Given the description of an element on the screen output the (x, y) to click on. 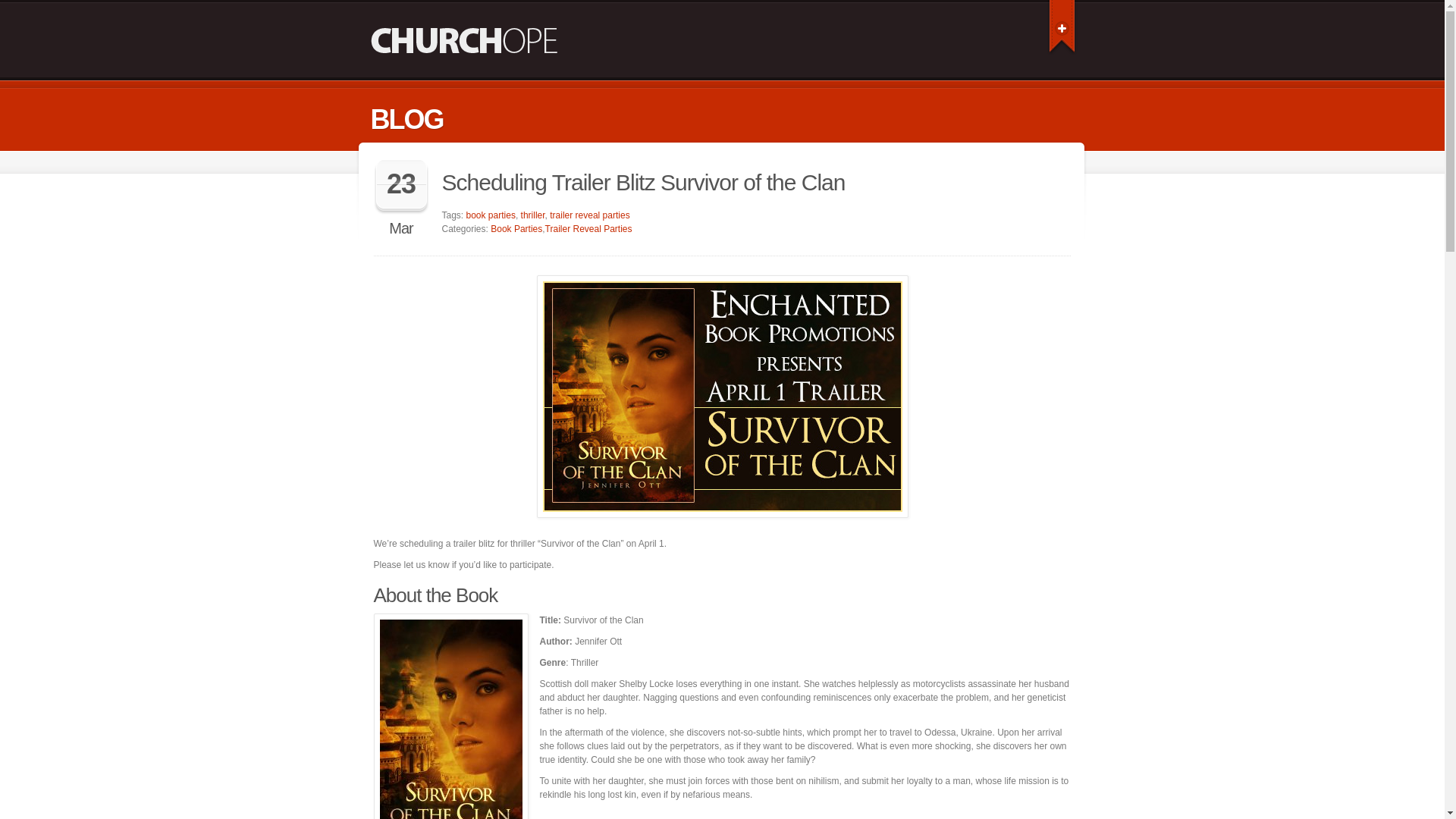
trailer reveal parties (589, 214)
thriller (532, 214)
book parties (490, 214)
Trailer Reveal Parties (587, 228)
Book Parties (515, 228)
